Given the description of an element on the screen output the (x, y) to click on. 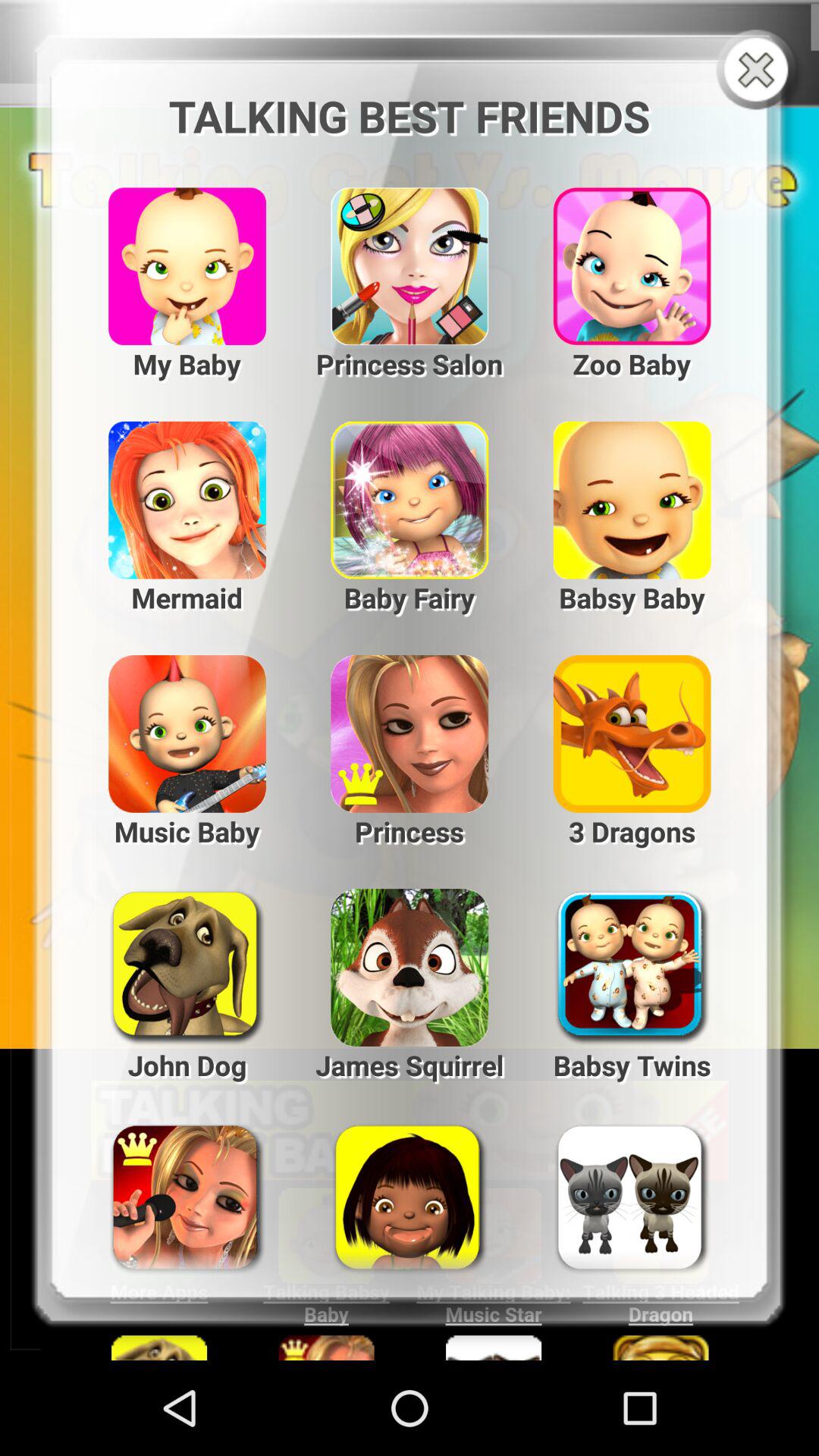
close button (759, 71)
